Given the description of an element on the screen output the (x, y) to click on. 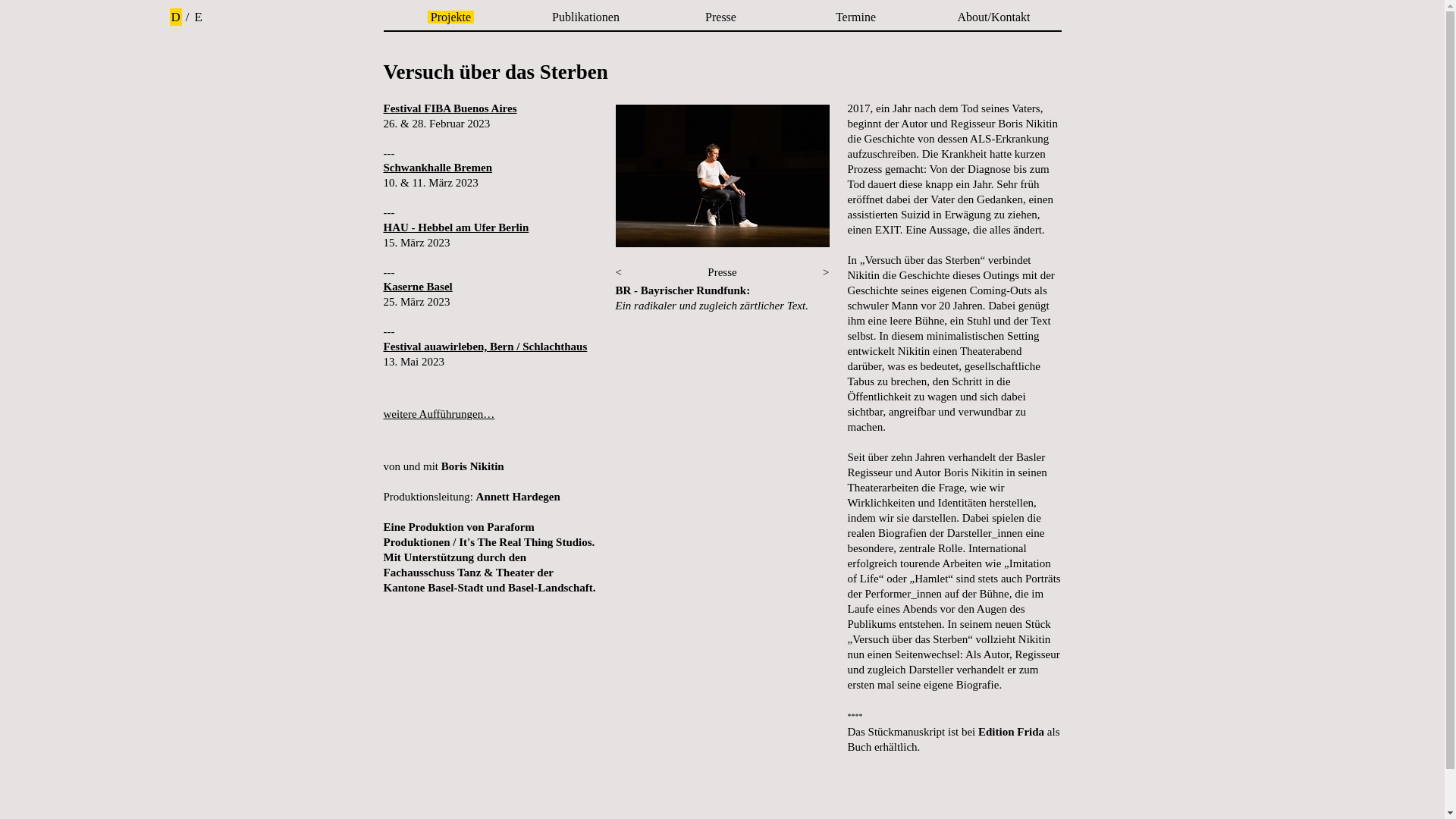
D Element type: text (175, 16)
Termine Element type: text (855, 16)
Projekte Element type: text (450, 16)
Presse Element type: text (720, 16)
Edition Frida Element type: text (1011, 731)
About/Kontakt Element type: text (992, 16)
Publikationen Element type: text (585, 16)
> Element type: text (825, 272)
< Element type: text (618, 272)
E Element type: text (198, 16)
